Given the description of an element on the screen output the (x, y) to click on. 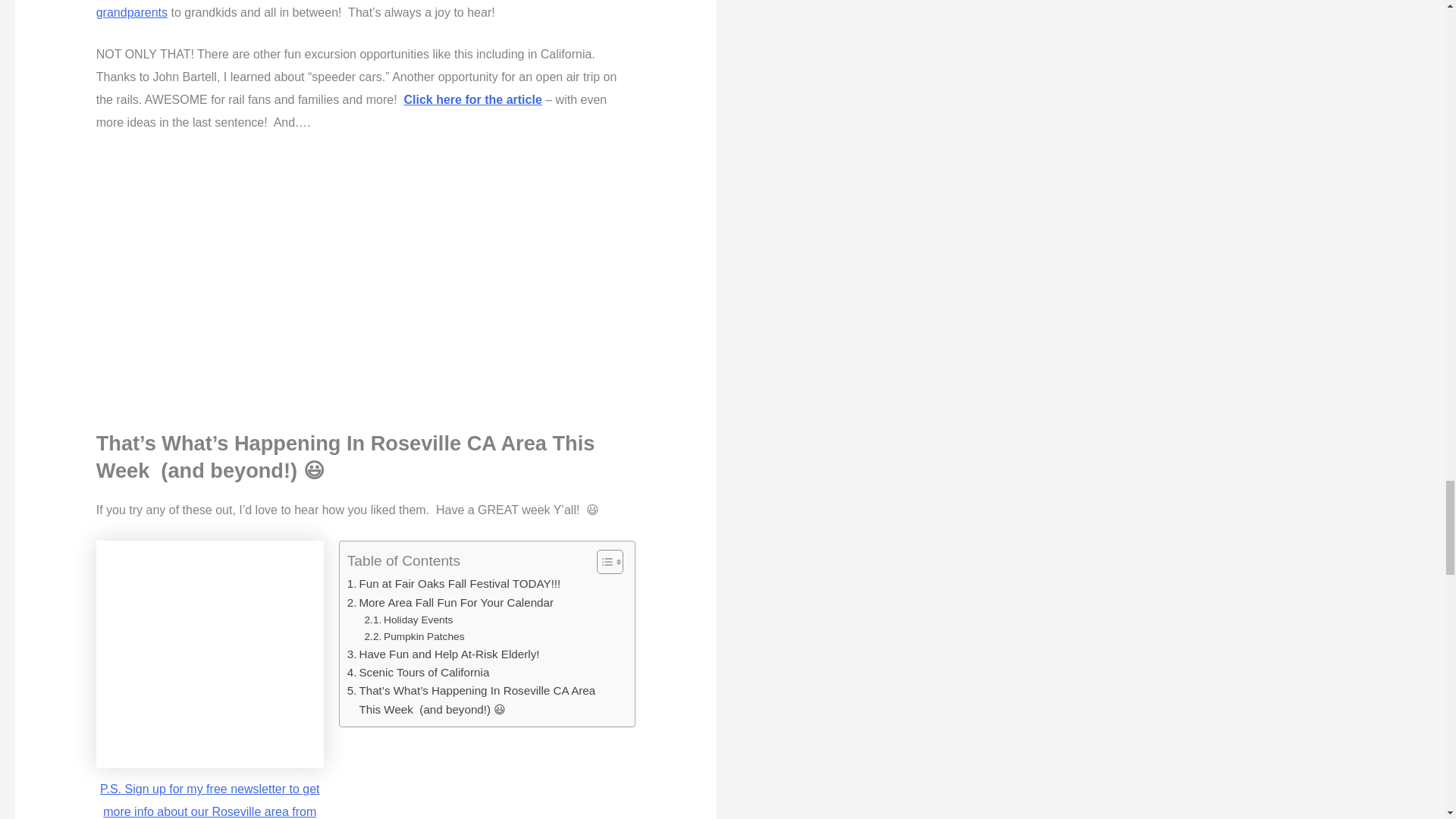
Scenic Tours of California (418, 672)
Scenic Tours of California (418, 672)
More Area Fall Fun For Your Calendar (450, 602)
More Area Fall Fun For Your Calendar (450, 602)
Click here for the article (472, 99)
Pumpkin Patches (414, 636)
grandparents (131, 11)
Holiday Events (408, 619)
Holiday Events (408, 619)
Pumpkin Patches (414, 636)
Fun at Fair Oaks Fall Festival TODAY!!! (453, 583)
Have Fun and Help At-Risk Elderly! (443, 654)
Fun at Fair Oaks Fall Festival TODAY!!! (453, 583)
YouTube video player (365, 272)
